Given the description of an element on the screen output the (x, y) to click on. 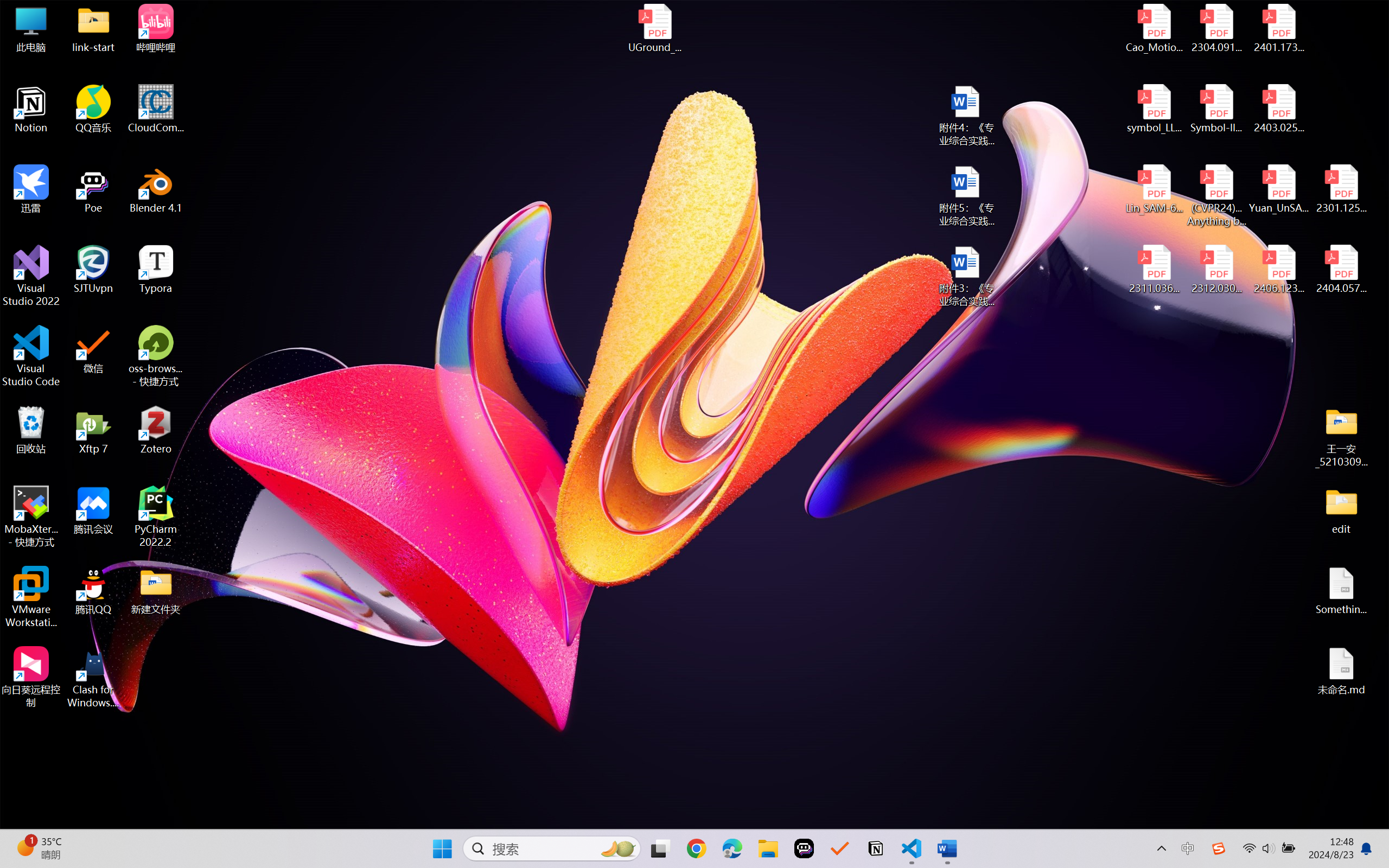
Microsoft Edge (731, 848)
Blender 4.1 (156, 189)
VMware Workstation Pro (31, 597)
UGround_paper.pdf (654, 28)
PyCharm 2022.2 (156, 516)
